Given the description of an element on the screen output the (x, y) to click on. 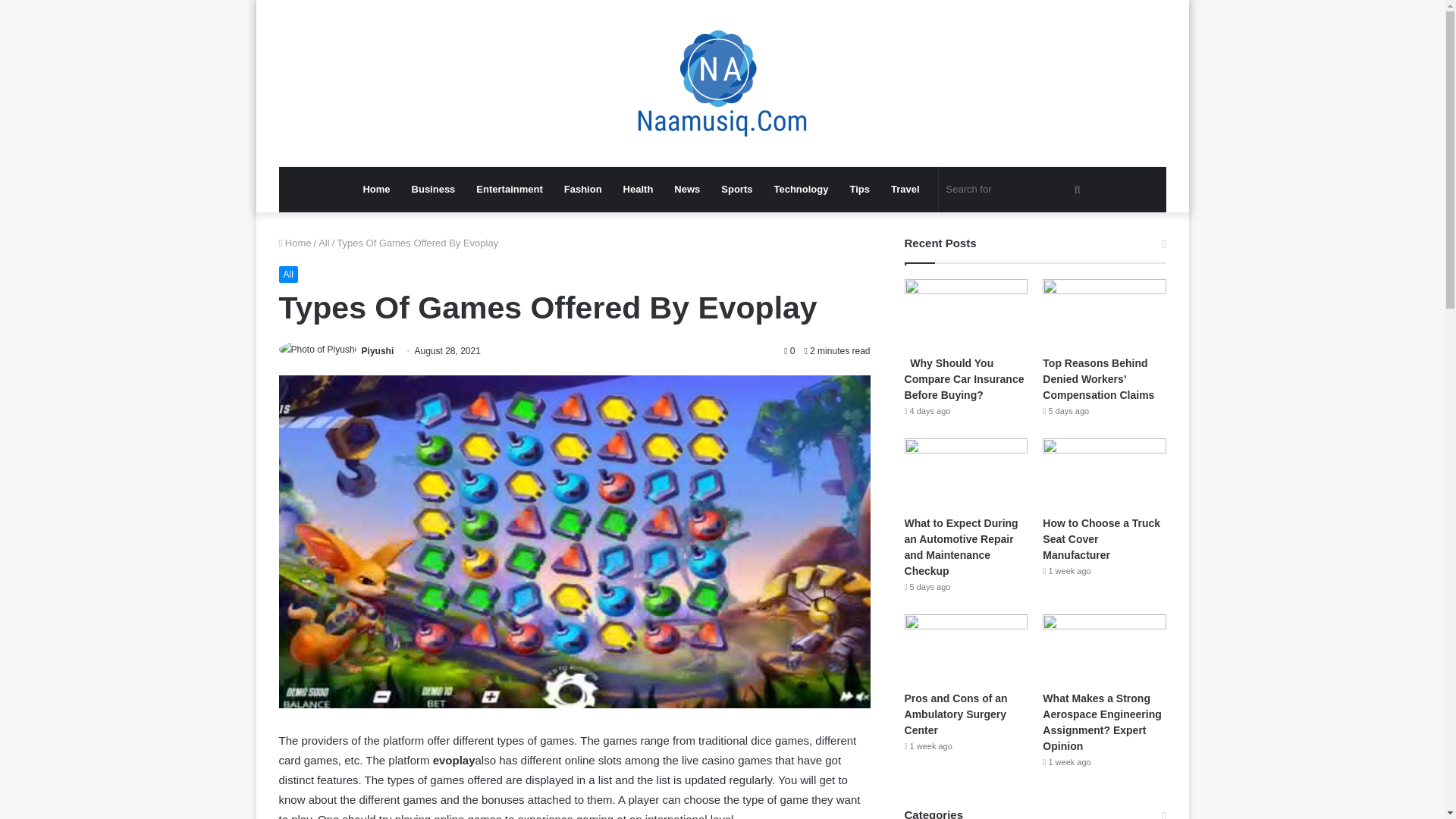
Sports (736, 189)
Home (376, 189)
All (323, 242)
Piyushi (377, 350)
Piyushi (377, 350)
Search for (1016, 189)
Business (433, 189)
Search for (1077, 189)
News (686, 189)
Travel (905, 189)
Health (637, 189)
All (288, 274)
NAAMUSIQ (721, 83)
Technology (800, 189)
Entertainment (509, 189)
